Given the description of an element on the screen output the (x, y) to click on. 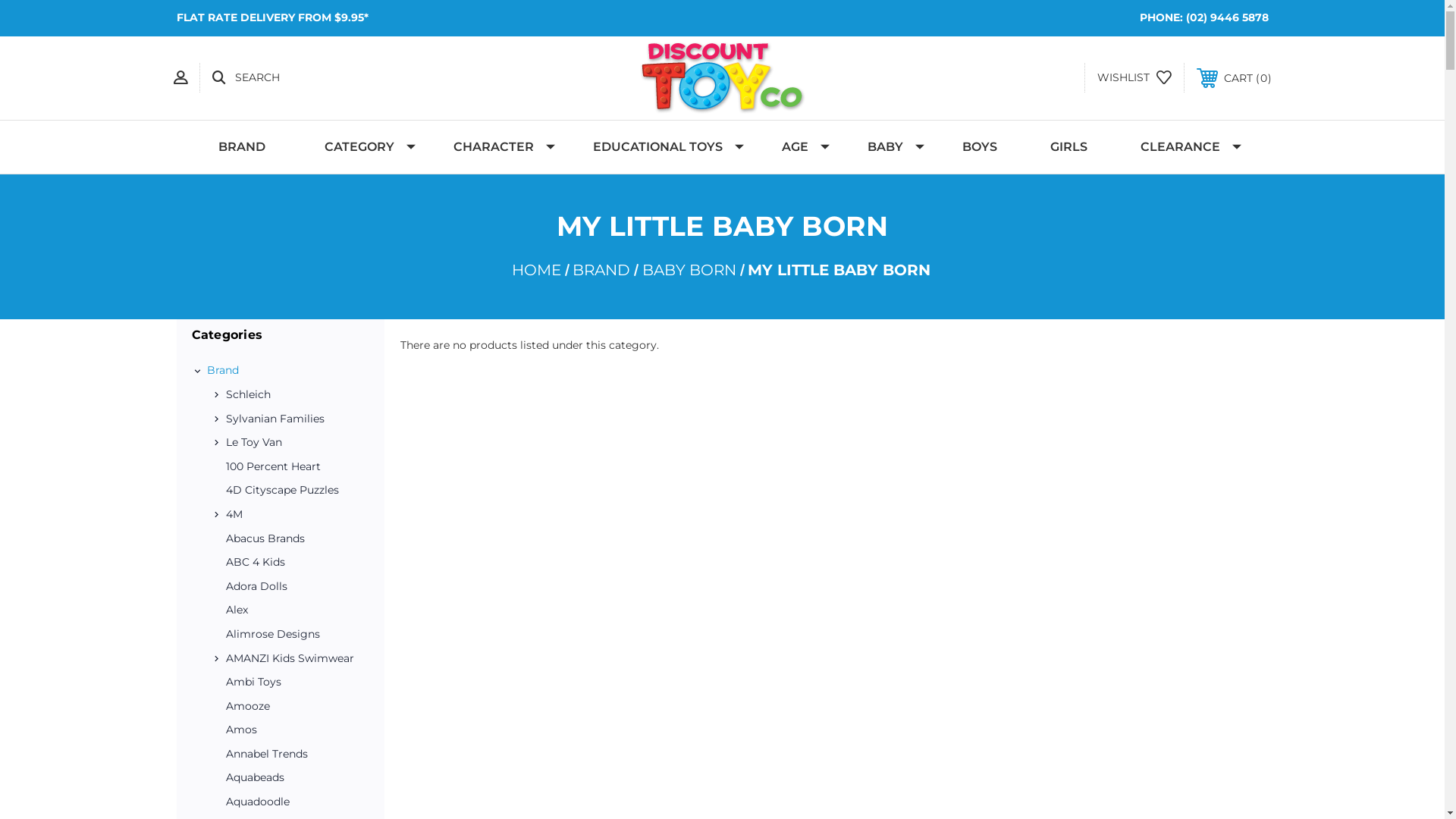
BOYS Element type: text (979, 146)
Aquabeads Element type: text (289, 777)
EDUCATIONAL TOYS Element type: text (660, 146)
Alex Element type: text (289, 610)
BABY Element type: text (887, 146)
Annabel Trends Element type: text (289, 754)
BRAND Element type: text (244, 146)
CART 0 Element type: text (1233, 77)
Alimrose Designs Element type: text (289, 634)
Schleich Element type: text (294, 394)
Amooze Element type: text (289, 706)
AGE Element type: text (797, 146)
HOME Element type: text (535, 269)
(02) 9446 5878 Element type: text (1227, 17)
Brand Element type: text (286, 370)
CLEARANCE Element type: text (1182, 146)
Ambi Toys Element type: text (289, 682)
Le Toy Van Element type: text (294, 442)
Amos Element type: text (289, 730)
4D Cityscape Puzzles Element type: text (289, 490)
Sylvanian Families Element type: text (294, 419)
CHARACTER Element type: text (496, 146)
Adora Dolls Element type: text (289, 586)
100 Percent Heart Element type: text (289, 467)
Aquadoodle Element type: text (289, 802)
BABY BORN Element type: text (688, 269)
WISHLIST Element type: text (1133, 77)
Abacus Brands Element type: text (289, 539)
ABC 4 Kids Element type: text (289, 562)
BRAND Element type: text (601, 269)
SEARCH Element type: text (245, 77)
Discount Toy Co Element type: hover (722, 77)
GIRLS Element type: text (1068, 146)
CATEGORY Element type: text (362, 146)
MY LITTLE BABY BORN Element type: text (838, 269)
4M Element type: text (294, 514)
AMANZI Kids Swimwear Element type: text (294, 658)
